Given the description of an element on the screen output the (x, y) to click on. 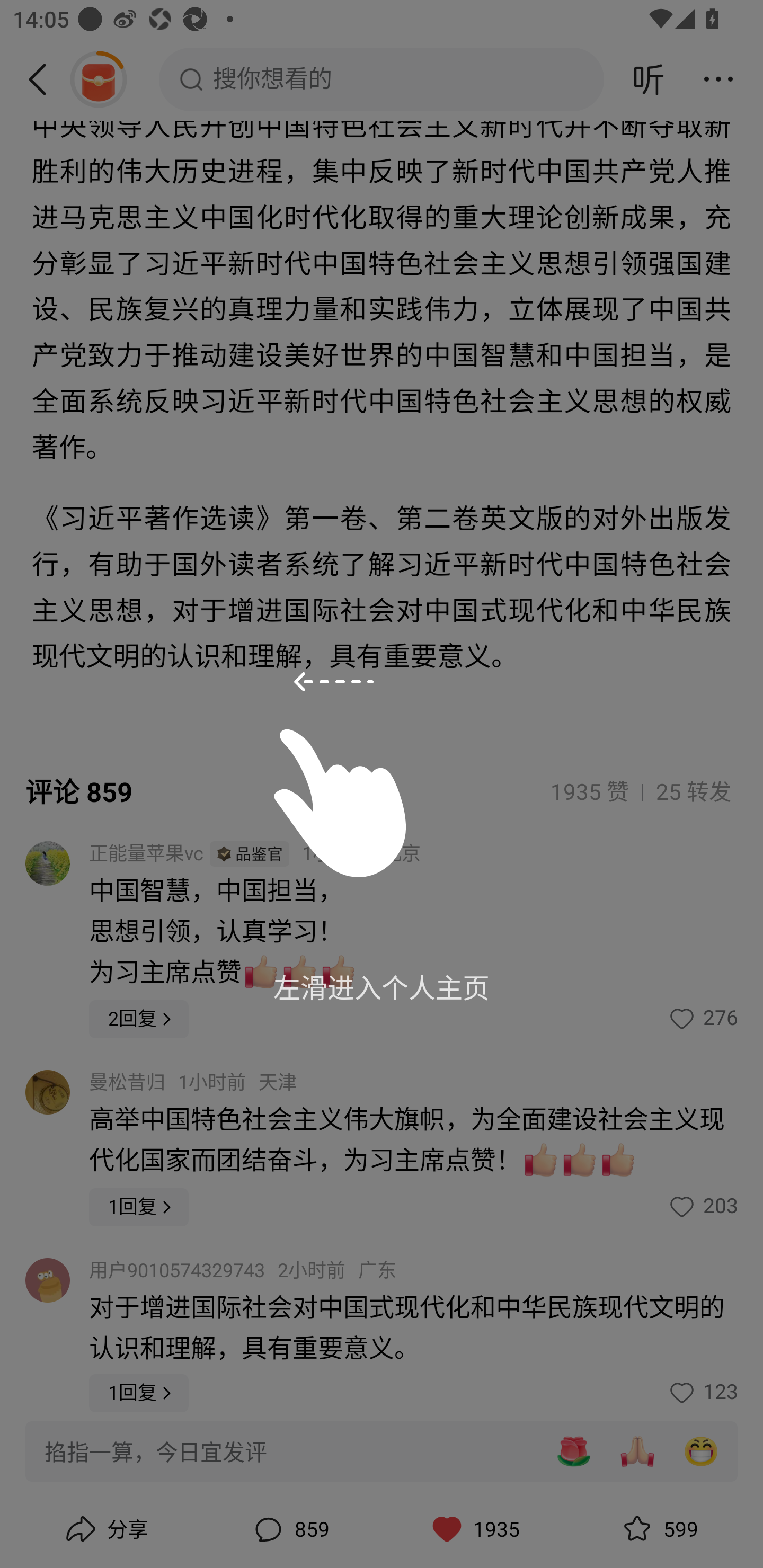
返回 (44, 78)
听头条 (648, 78)
更多操作 (718, 78)
搜你想看的 搜索框，搜你想看的 (381, 79)
阅读赚金币 (98, 79)
2回复 (138, 1019)
曼松昔归 1小时前 天津 (192, 1082)
1回复 (138, 1207)
用户9010574329743 2小时前 广东 (242, 1270)
1回复 (138, 1392)
[玫瑰] (573, 1451)
[祈祷] (636, 1451)
[呲牙] (700, 1451)
分享 (104, 1529)
评论,859 859 (288, 1529)
收藏,599 599 (658, 1529)
